Given the description of an element on the screen output the (x, y) to click on. 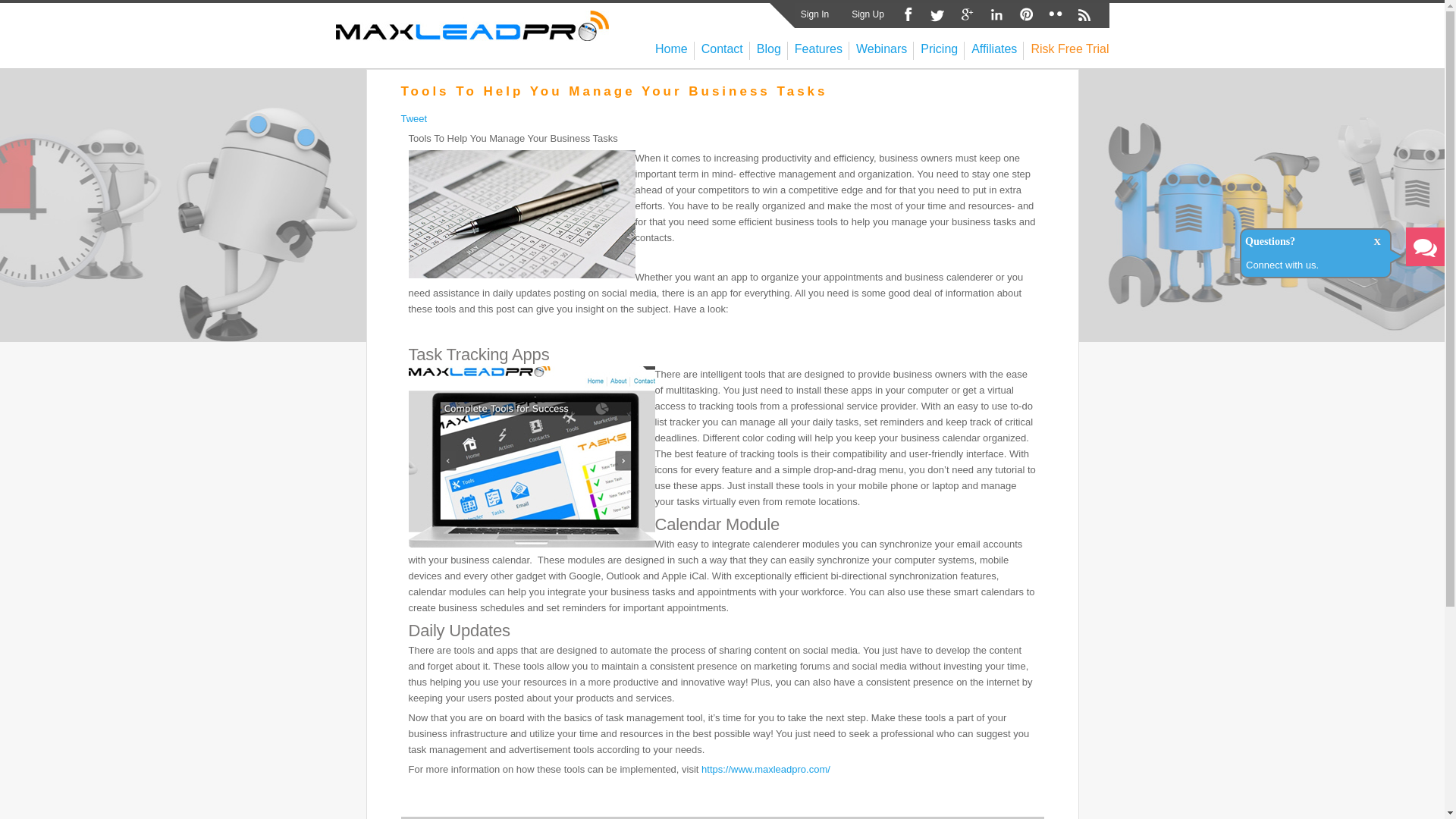
Sign Up (867, 14)
Blog (768, 48)
Pricing (939, 48)
Tweet (413, 118)
Features (818, 48)
Contact (721, 48)
Tools To Help You Manage Your Business Tasks (613, 91)
Sign In (815, 14)
Home (671, 48)
Webinars (881, 48)
Risk Free Trial (1069, 48)
Affiliates (993, 48)
